Given the description of an element on the screen output the (x, y) to click on. 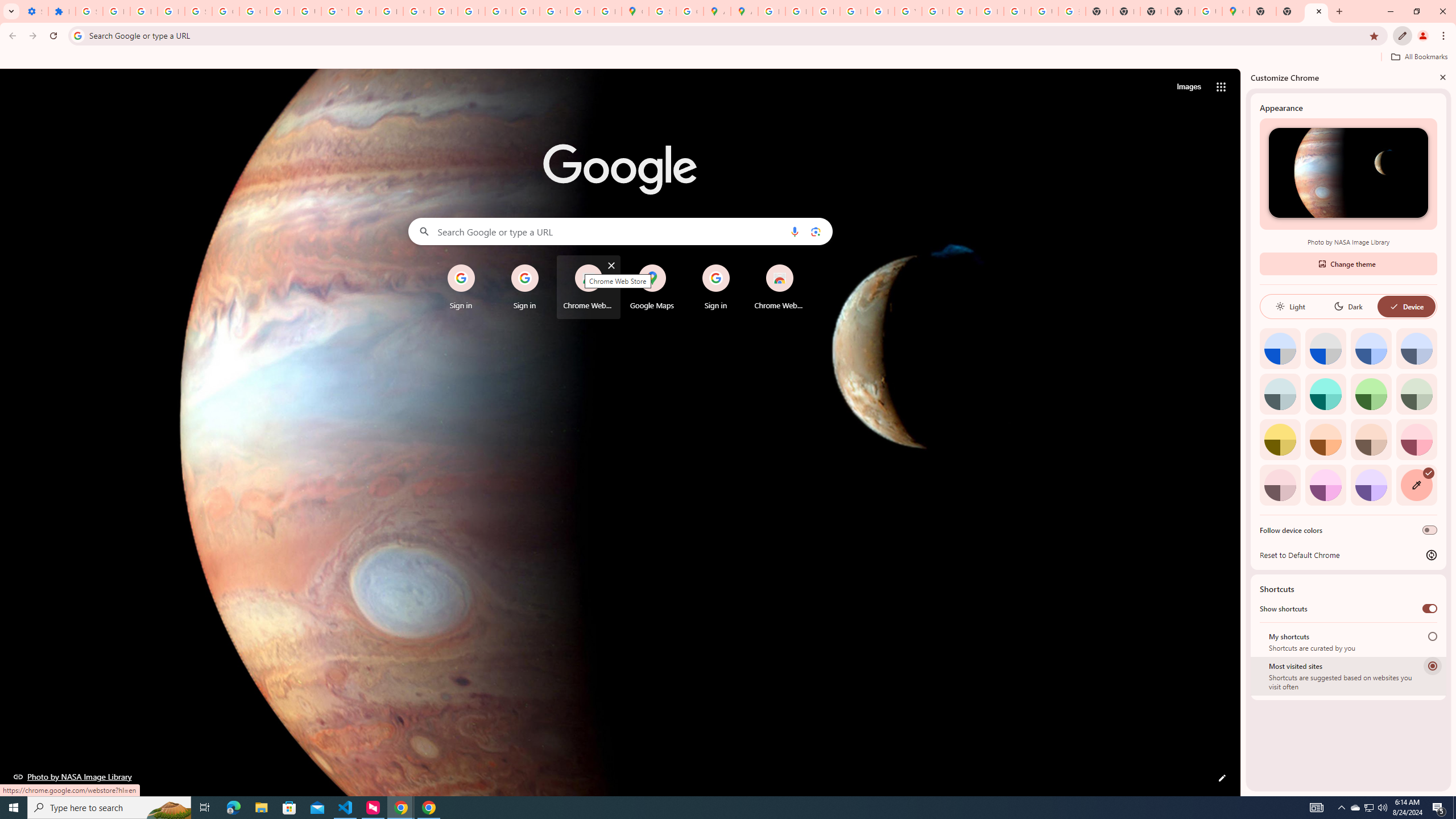
Light (1289, 305)
YouTube (908, 11)
Sign in - Google Accounts (662, 11)
Viridian (1416, 393)
Show shortcuts (1429, 608)
